Given the description of an element on the screen output the (x, y) to click on. 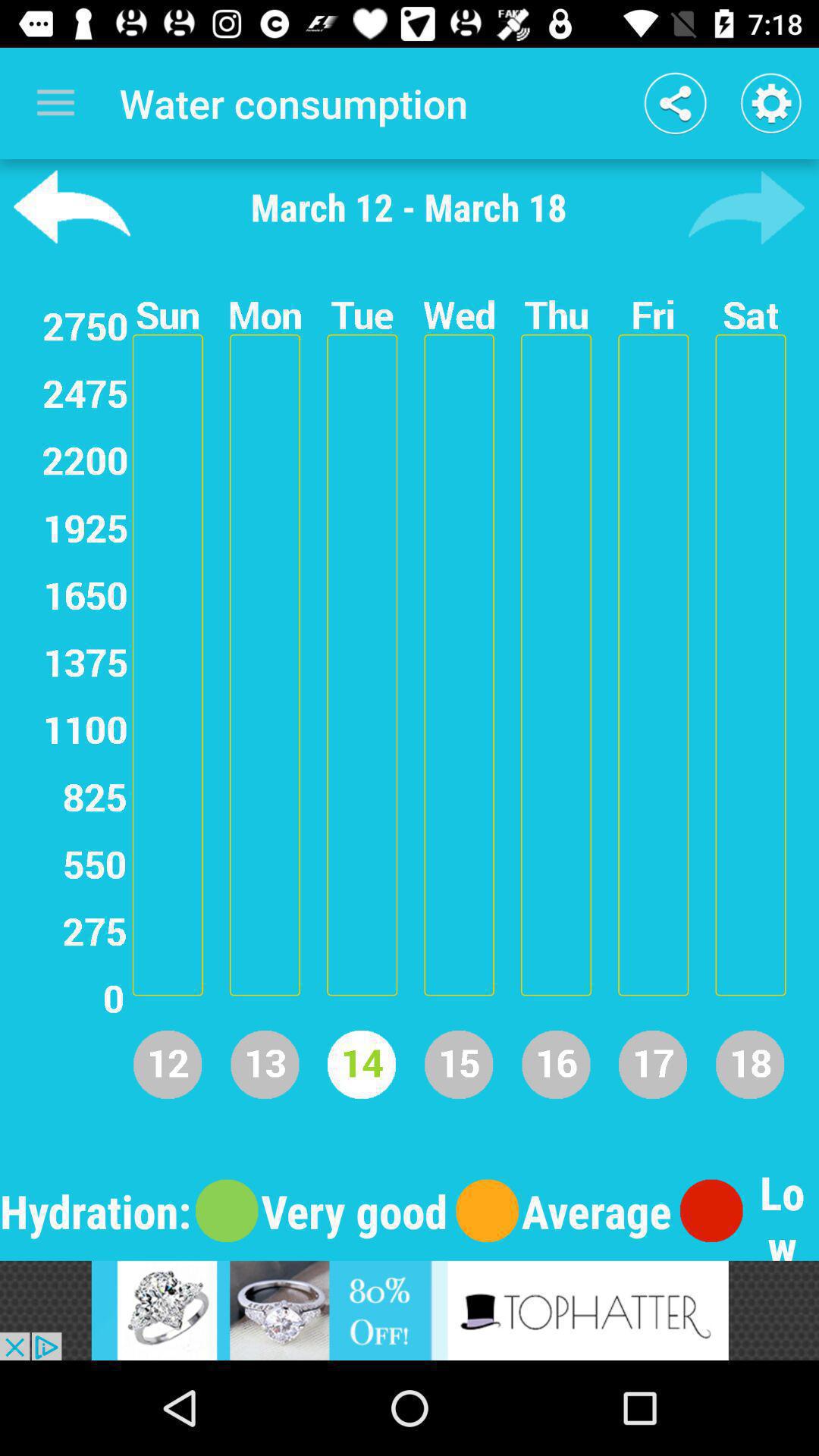
click to go to tophatter ap (409, 1310)
